Given the description of an element on the screen output the (x, y) to click on. 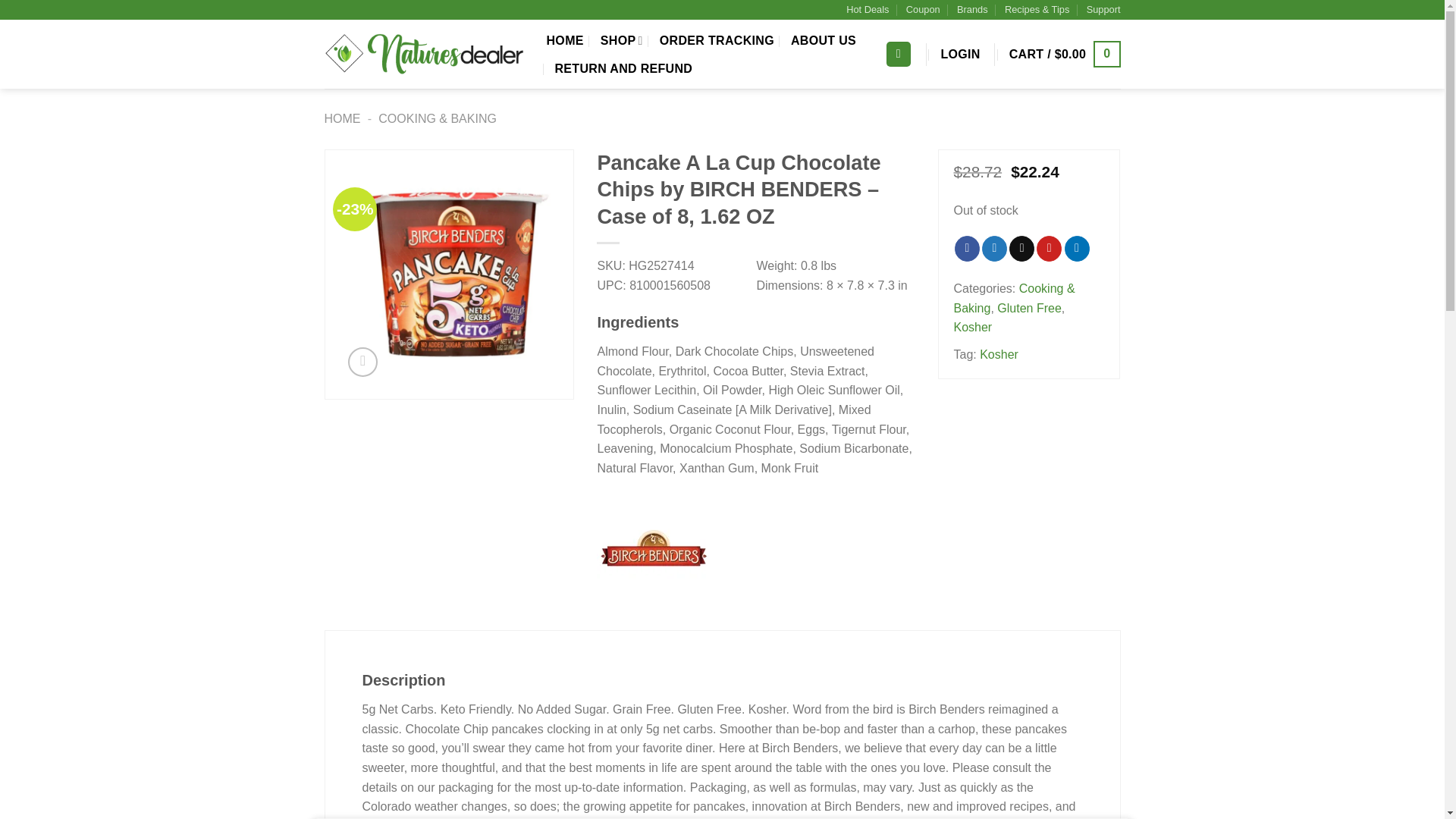
Support (1103, 9)
Brands (972, 9)
Coupon (922, 9)
SHOP (621, 40)
HOME (564, 40)
Login (959, 53)
Share on LinkedIn (1076, 248)
Zoom (362, 361)
Pin on Pinterest (1048, 248)
Share on Twitter (994, 248)
Email to a Friend (1021, 248)
Hot Deals (866, 9)
View brand (653, 549)
Cart (1065, 53)
Share on Facebook (967, 248)
